Given the description of an element on the screen output the (x, y) to click on. 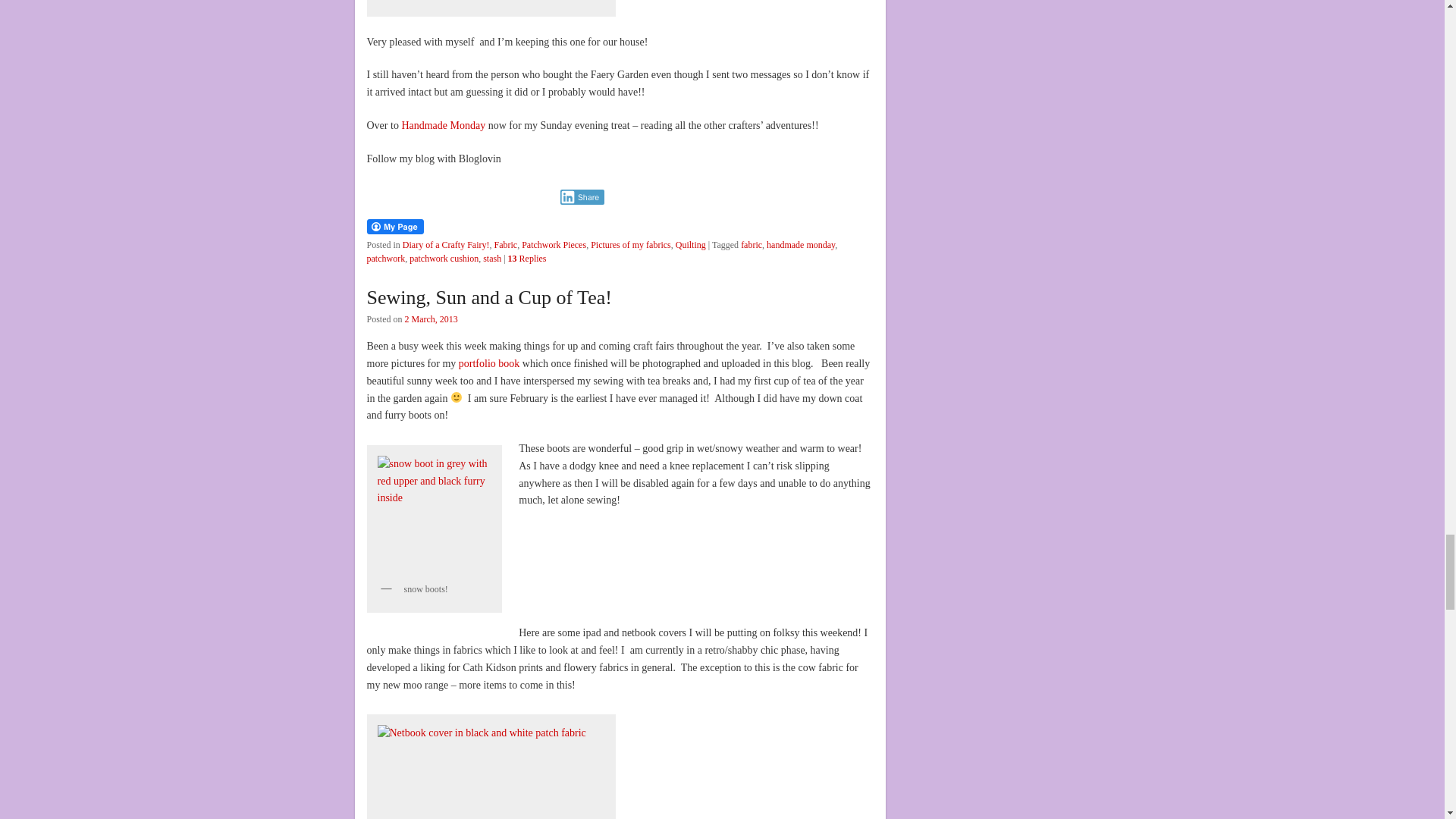
5:40 pm (431, 318)
